Given the description of an element on the screen output the (x, y) to click on. 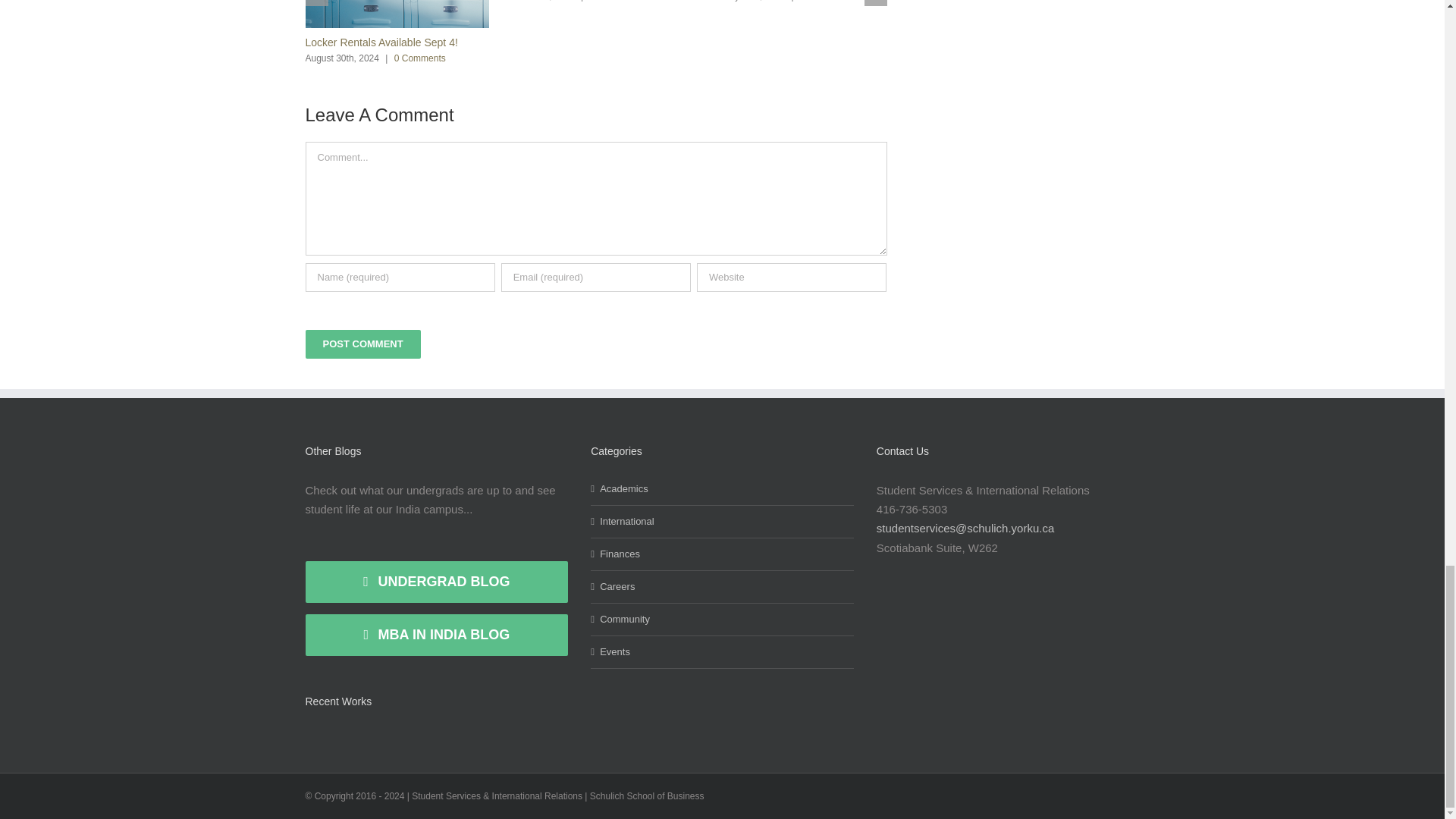
0 Comments (419, 58)
Locker Rentals Available Sept 4! (380, 42)
0 Comments (614, 0)
0 Comments (825, 0)
Post Comment (362, 344)
Locker Rentals Available Sept 4! (380, 42)
